Given the description of an element on the screen output the (x, y) to click on. 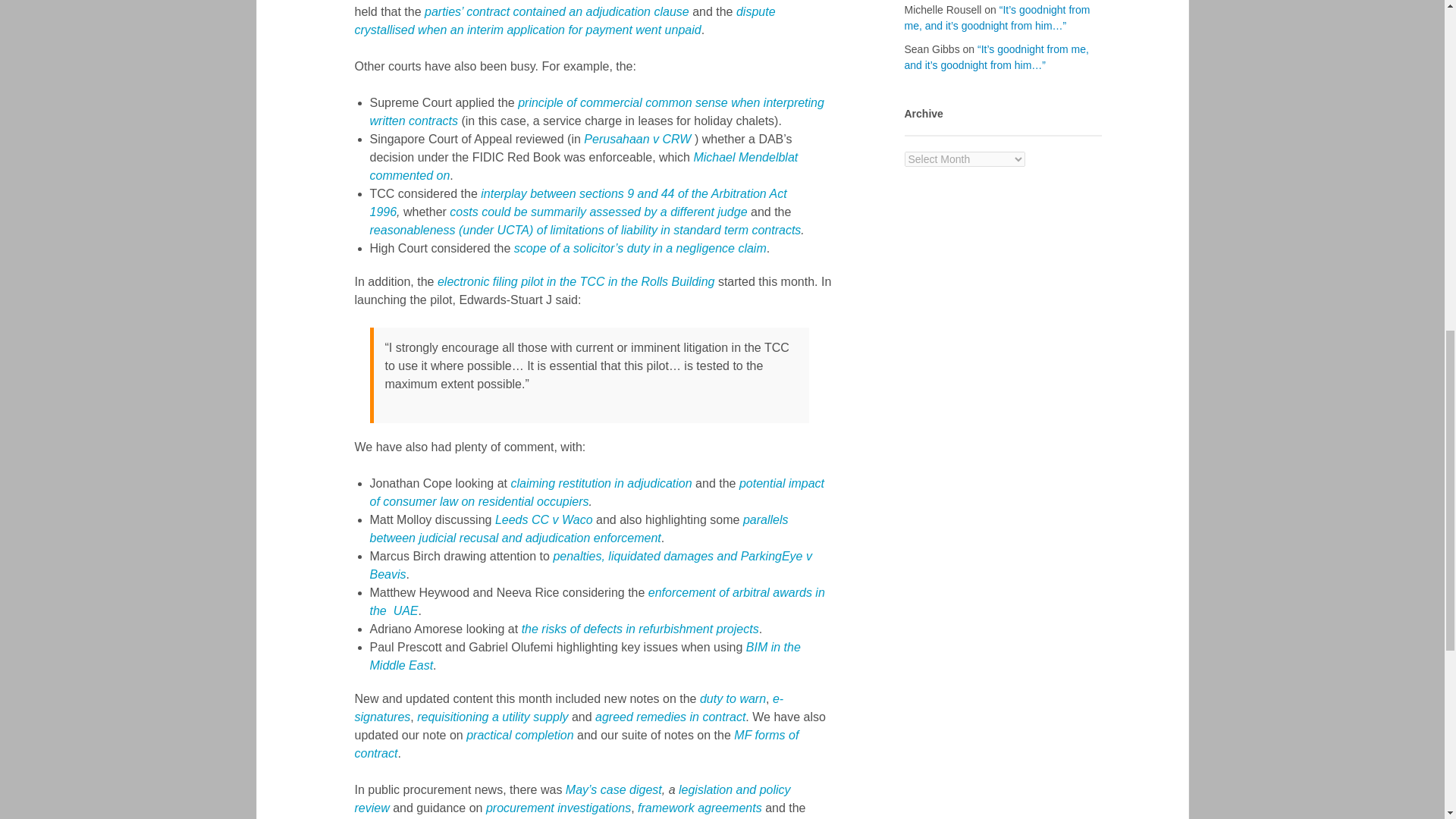
practical completion (519, 735)
Michael Mendelblat commented on (583, 165)
costs could be summarily assessed by a different judge (597, 211)
potential impact of consumer law on residential occupiers (597, 491)
Leeds CC v Waco (543, 519)
the risks of defects in refurbishment projects (639, 628)
BIM in the Middle East (584, 655)
duty to warn (732, 698)
